Given the description of an element on the screen output the (x, y) to click on. 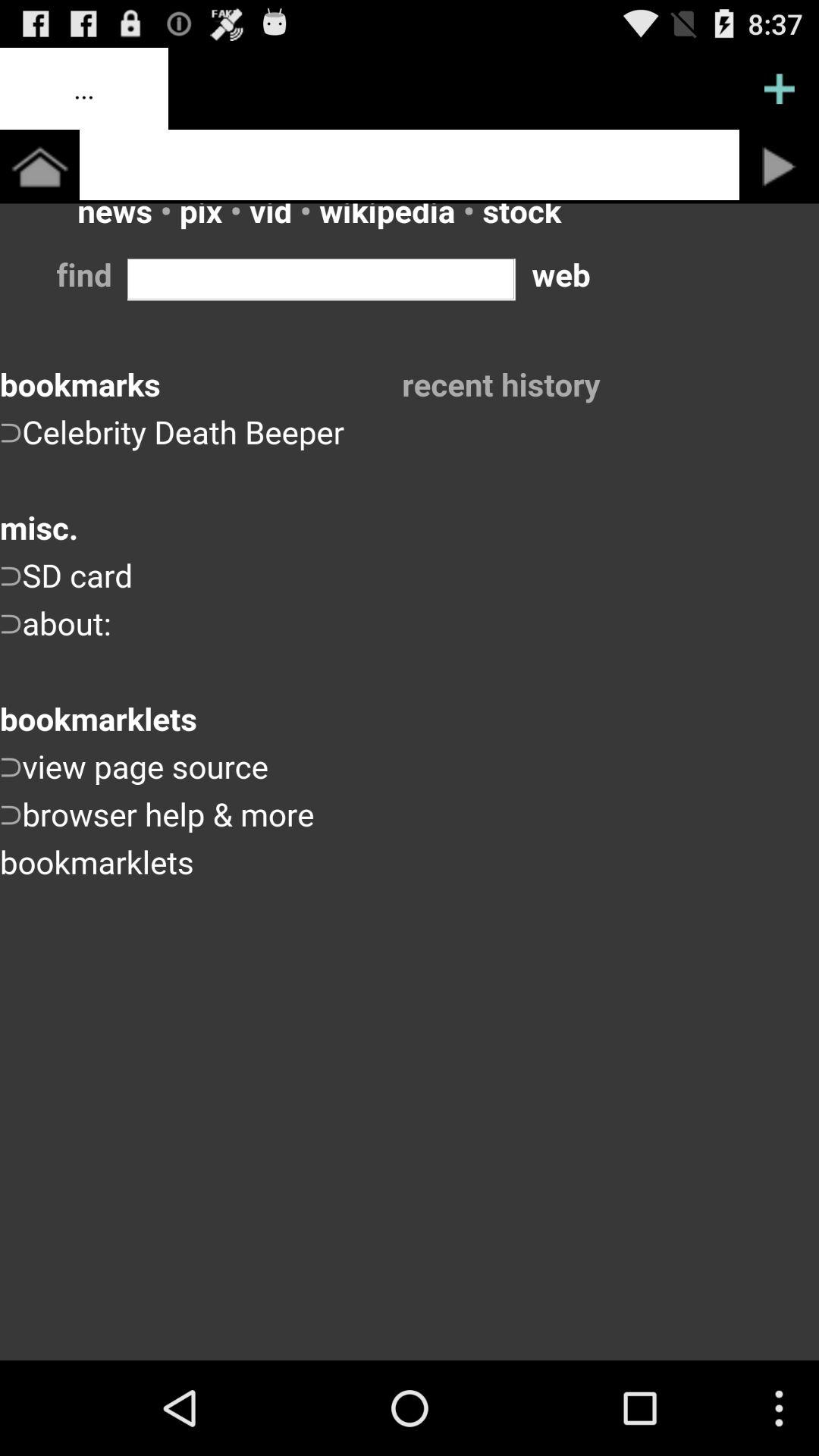
tap to write (409, 164)
